Given the description of an element on the screen output the (x, y) to click on. 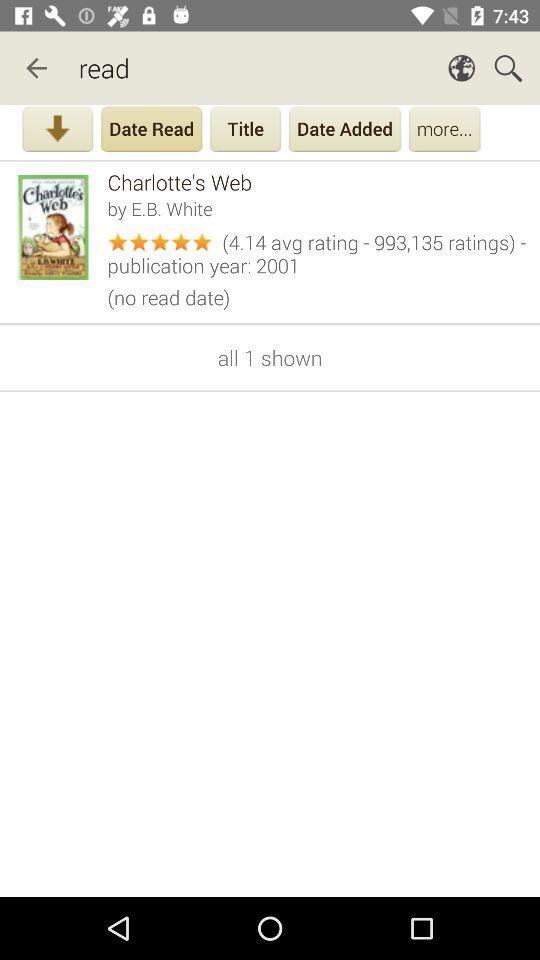
turn on item next to date read item (57, 131)
